Given the description of an element on the screen output the (x, y) to click on. 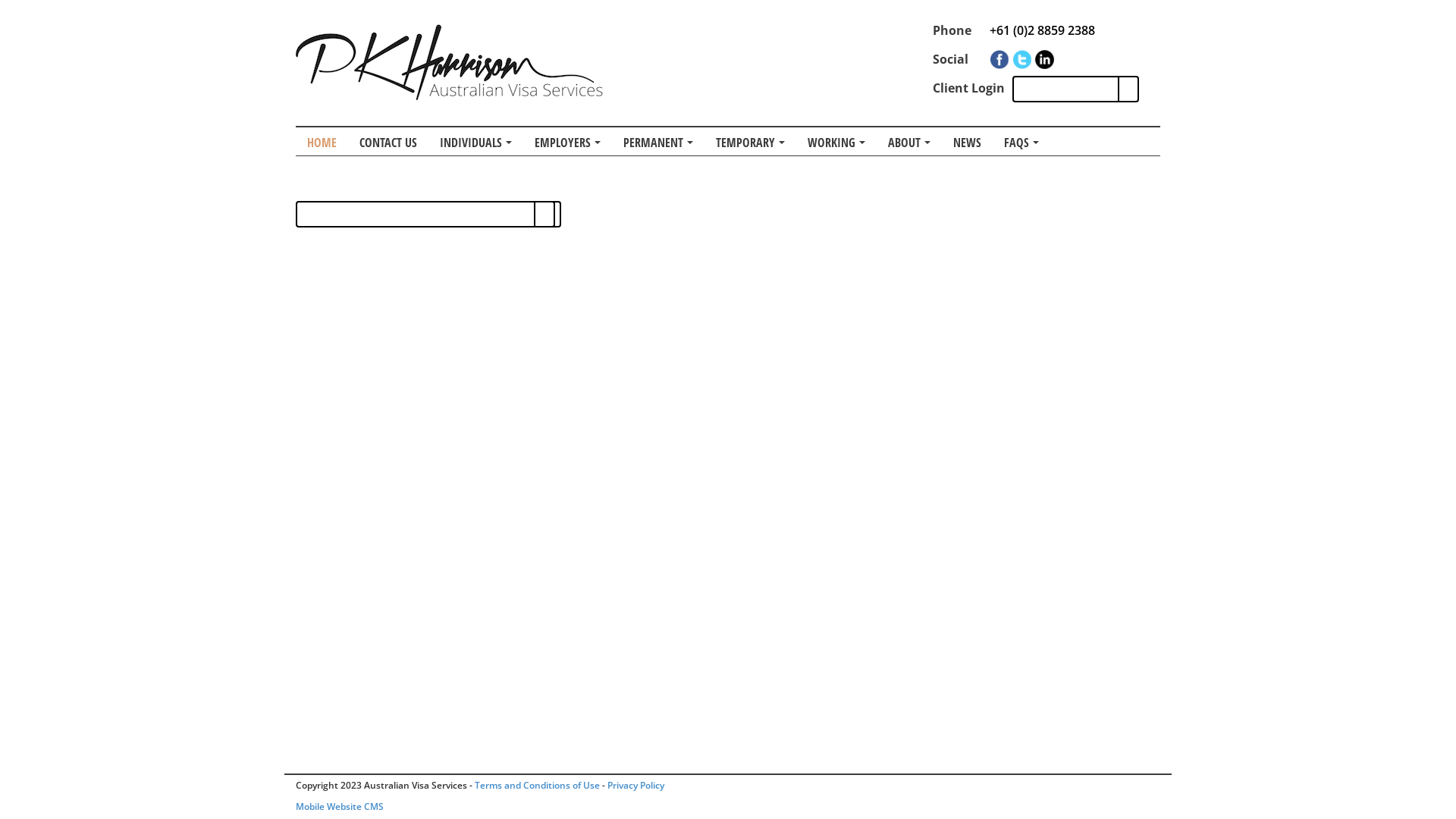
Client Login Element type: text (968, 87)
ABOUT Element type: text (908, 141)
facebook Element type: text (998, 59)
CONTACT US Element type: text (388, 141)
Terms and Conditions of Use Element type: text (536, 784)
PERMANENT Element type: text (657, 141)
Twitter Element type: text (1021, 59)
Australian Visa Services Element type: text (448, 62)
FAQS Element type: text (1021, 141)
EMPLOYERS Element type: text (567, 141)
TEMPORARY Element type: text (750, 141)
WORKING Element type: text (836, 141)
LinkedIn Element type: text (1044, 59)
HOME Element type: text (321, 141)
Mobile Website CMS Element type: text (339, 806)
NEWS Element type: text (966, 141)
+61 (0)2 8859 2388 Element type: text (1042, 29)
INDIVIDUALS Element type: text (475, 141)
Privacy Policy Element type: text (635, 784)
